Given the description of an element on the screen output the (x, y) to click on. 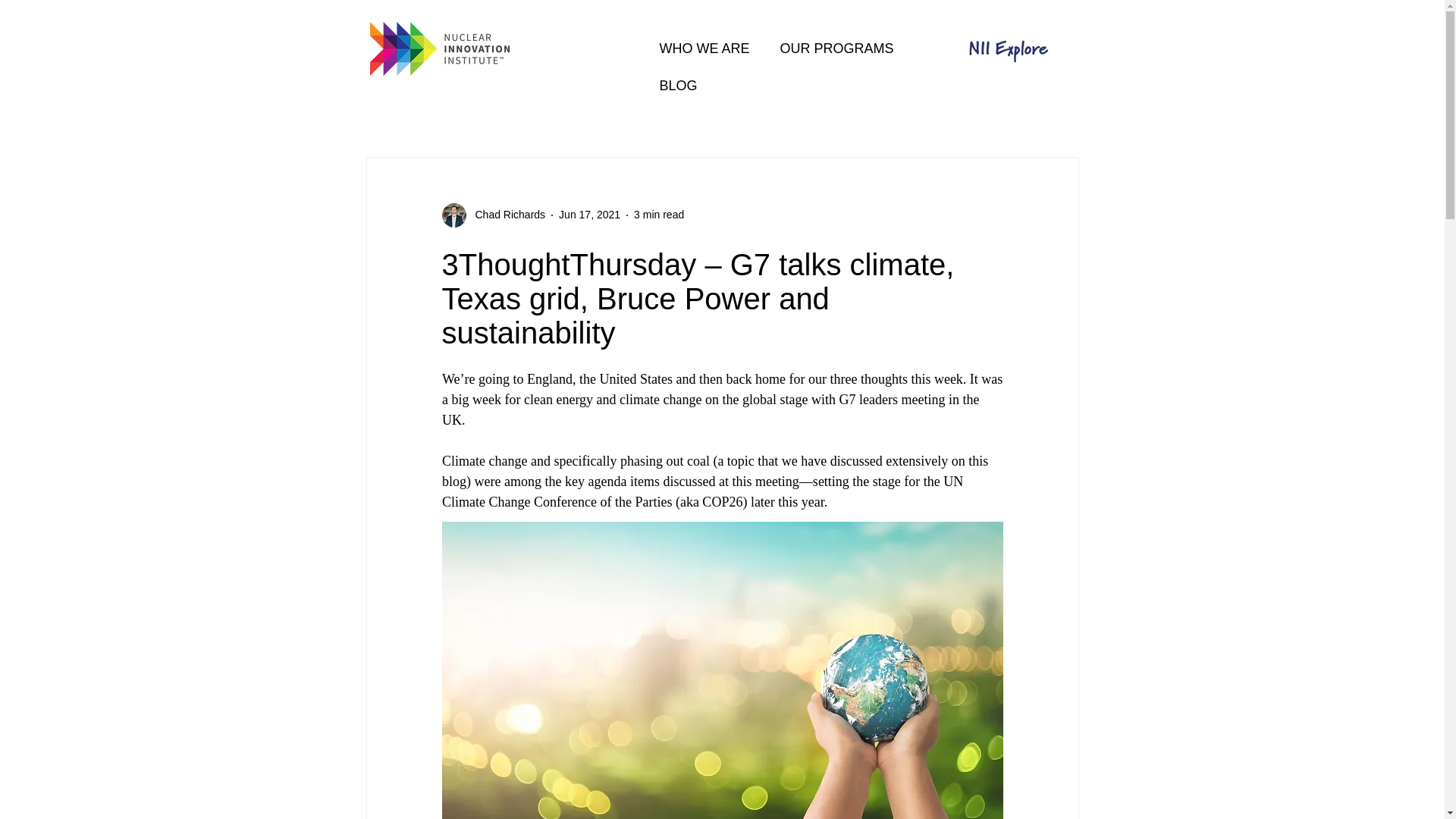
Chad Richards (504, 214)
3 min read (658, 214)
BLOG (678, 85)
Jun 17, 2021 (589, 214)
Chad Richards (492, 215)
